Given the description of an element on the screen output the (x, y) to click on. 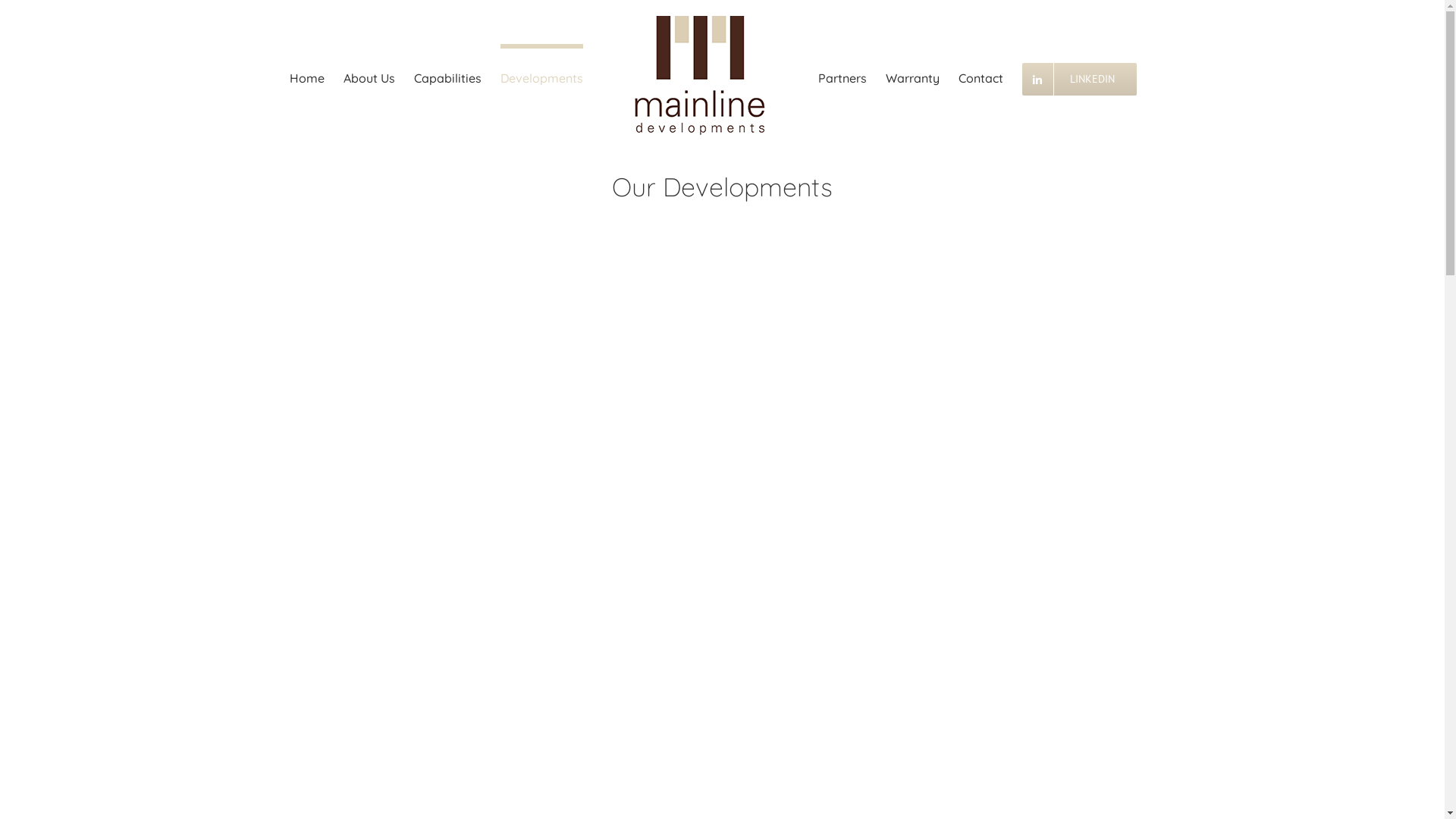
Capabilities Element type: text (447, 75)
Partners Element type: text (841, 75)
Warranty Element type: text (912, 75)
Home Element type: text (306, 75)
Contact Element type: text (980, 75)
Developments Element type: text (541, 75)
LINKEDIN Element type: text (1079, 75)
About Us Element type: text (368, 75)
